Given the description of an element on the screen output the (x, y) to click on. 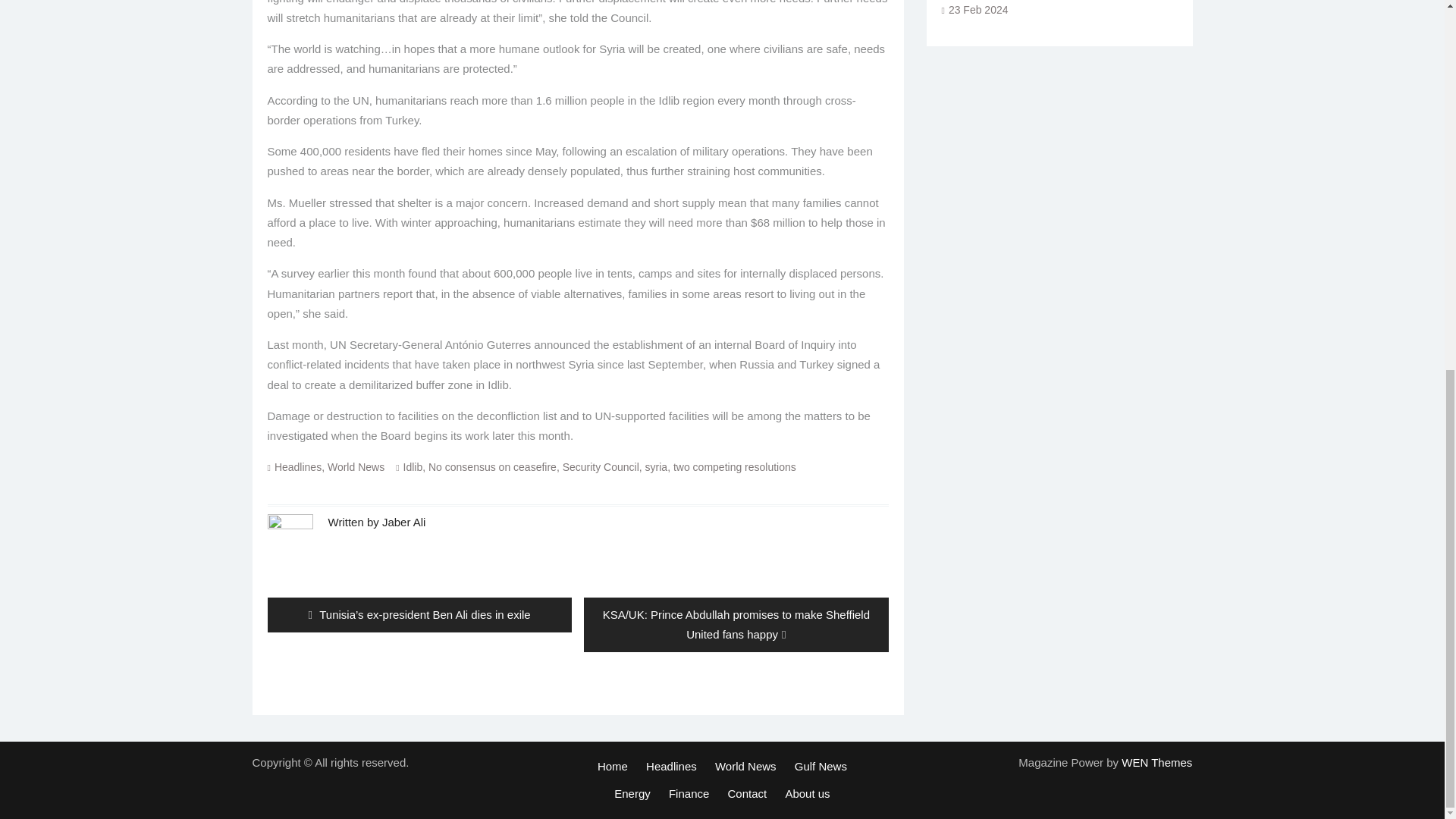
Security Council (600, 467)
World News (355, 467)
No consensus on ceasefire (492, 467)
Jaber Ali (403, 521)
two competing resolutions (734, 467)
syria (656, 467)
Headlines (298, 467)
Posts by Jaber Ali (403, 521)
Idlib (413, 467)
